Given the description of an element on the screen output the (x, y) to click on. 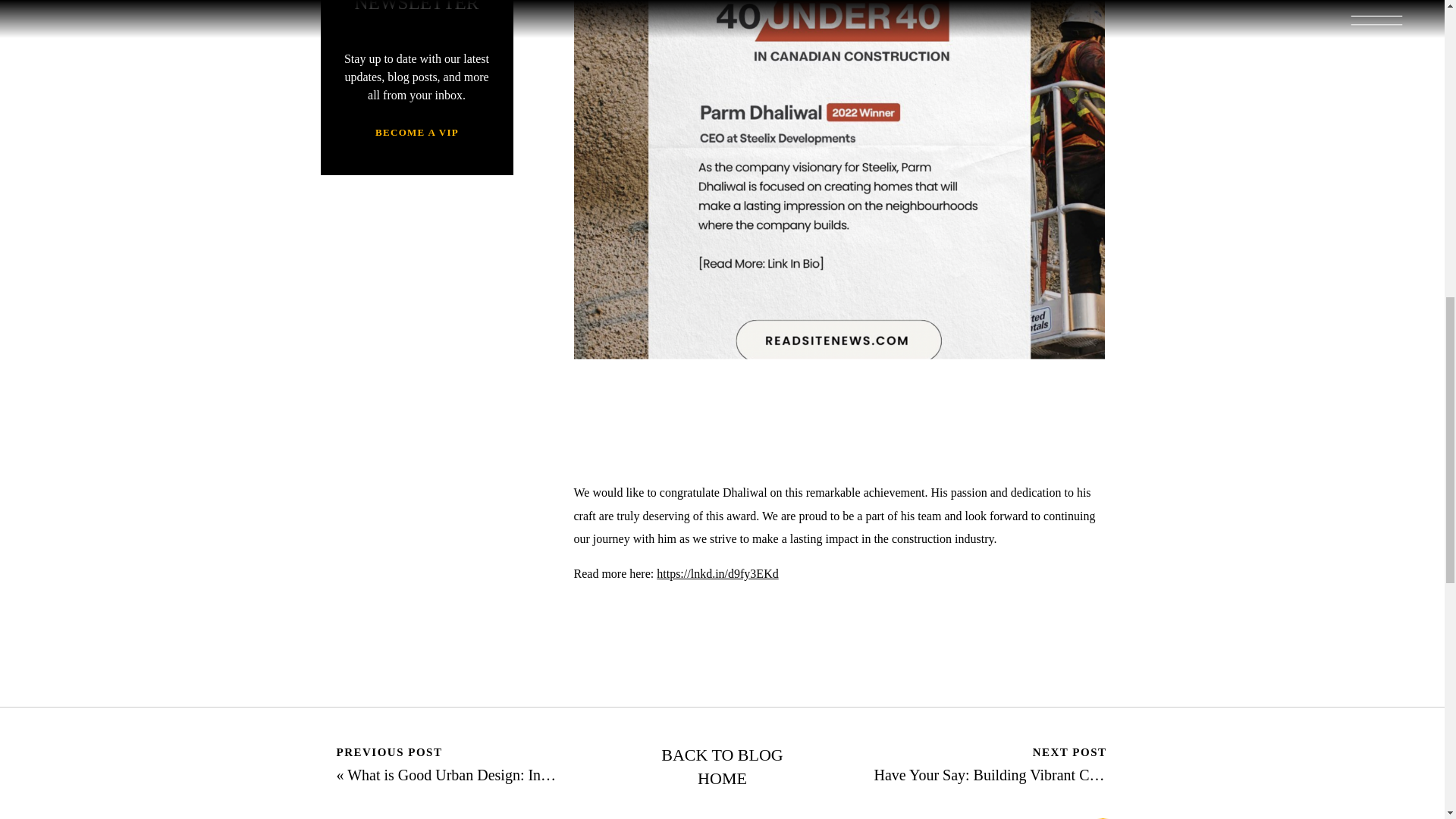
BECOME A VIP (417, 133)
Have Your Say: Building Vibrant Communities with Steelix Dev (1069, 774)
BACK TO BLOG HOME (722, 767)
